Given the description of an element on the screen output the (x, y) to click on. 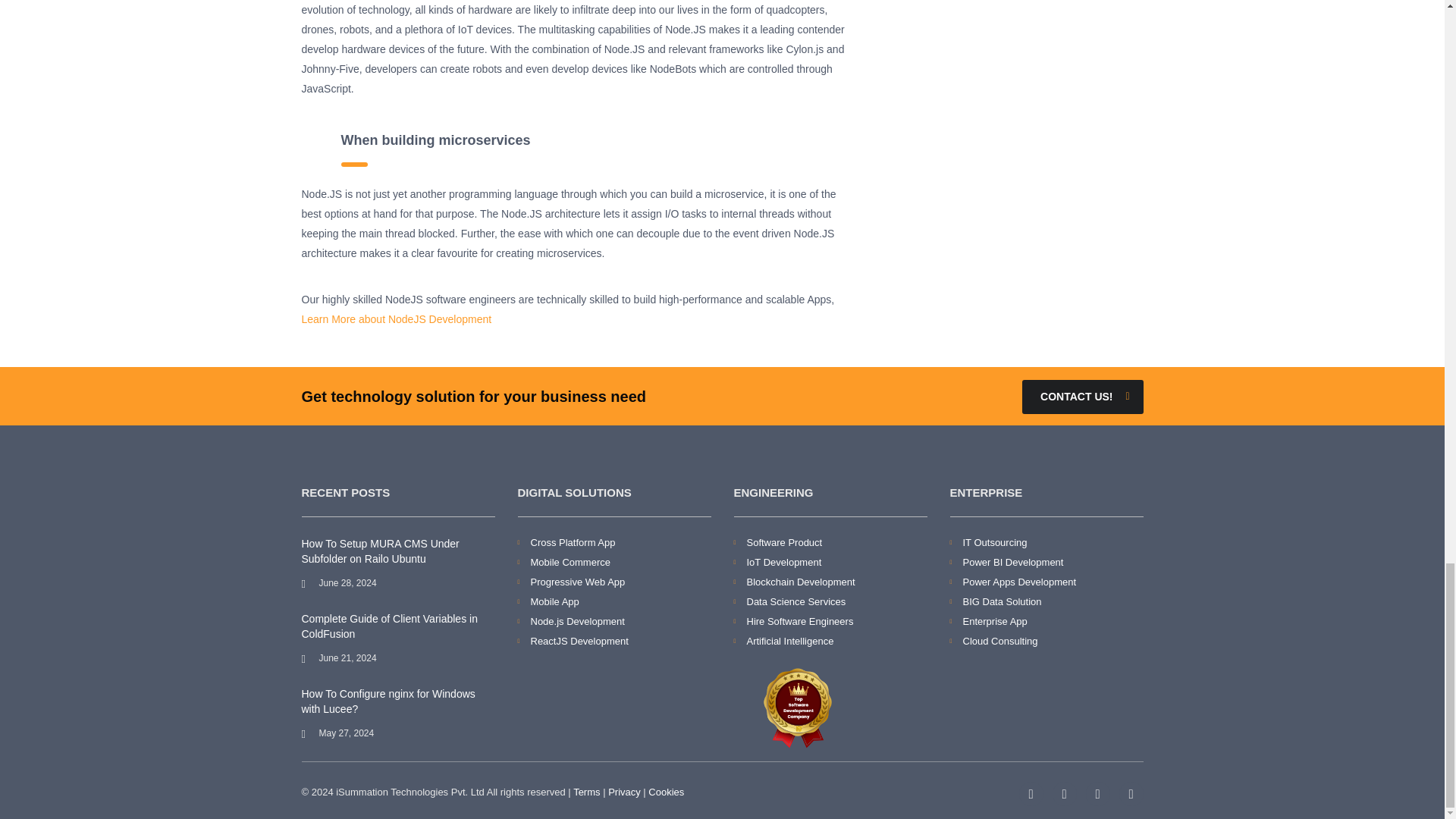
Get in Touch (1082, 397)
